Given the description of an element on the screen output the (x, y) to click on. 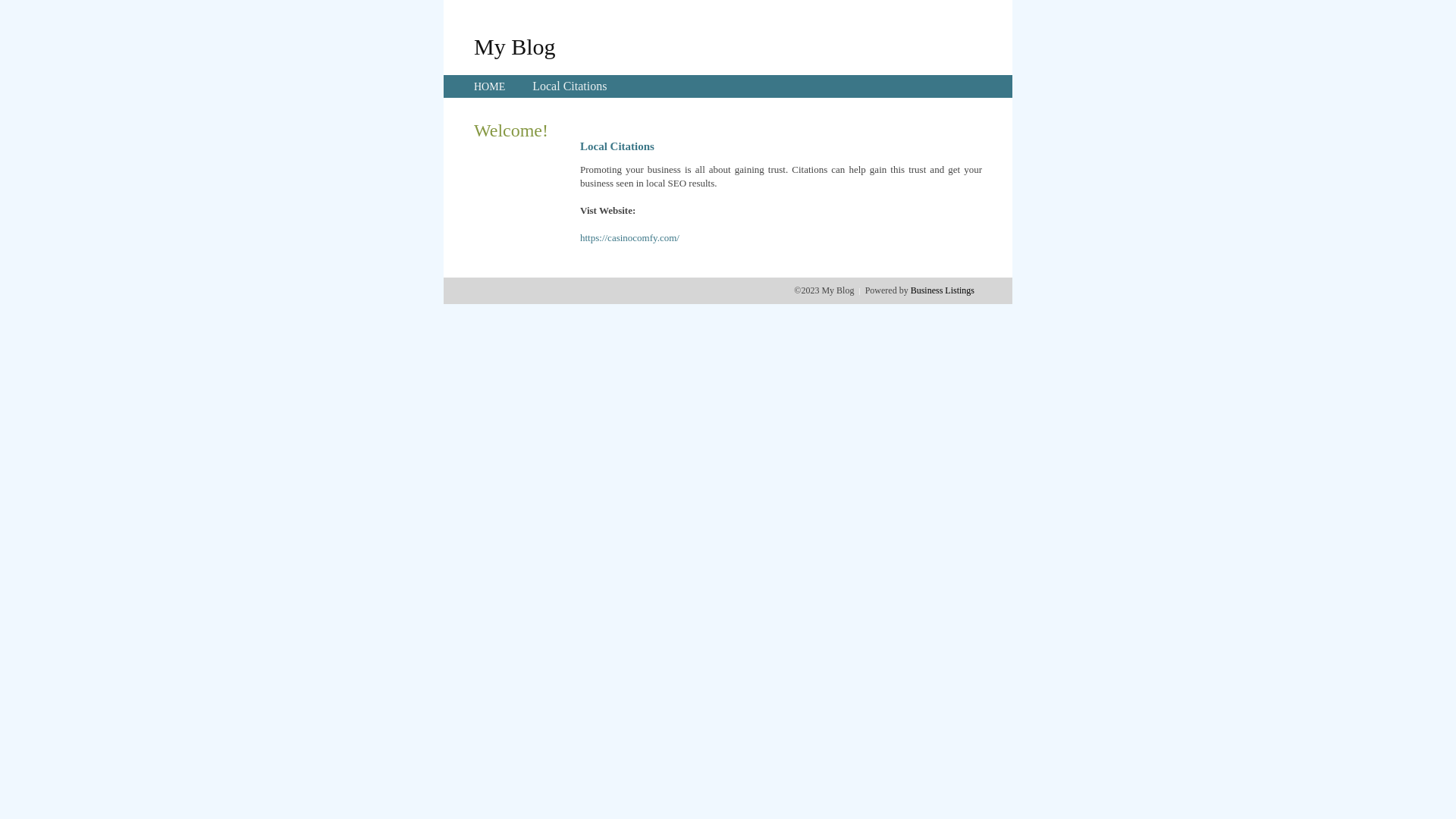
https://casinocomfy.com/ Element type: text (629, 237)
Local Citations Element type: text (569, 85)
Business Listings Element type: text (942, 290)
HOME Element type: text (489, 86)
My Blog Element type: text (514, 46)
